Given the description of an element on the screen output the (x, y) to click on. 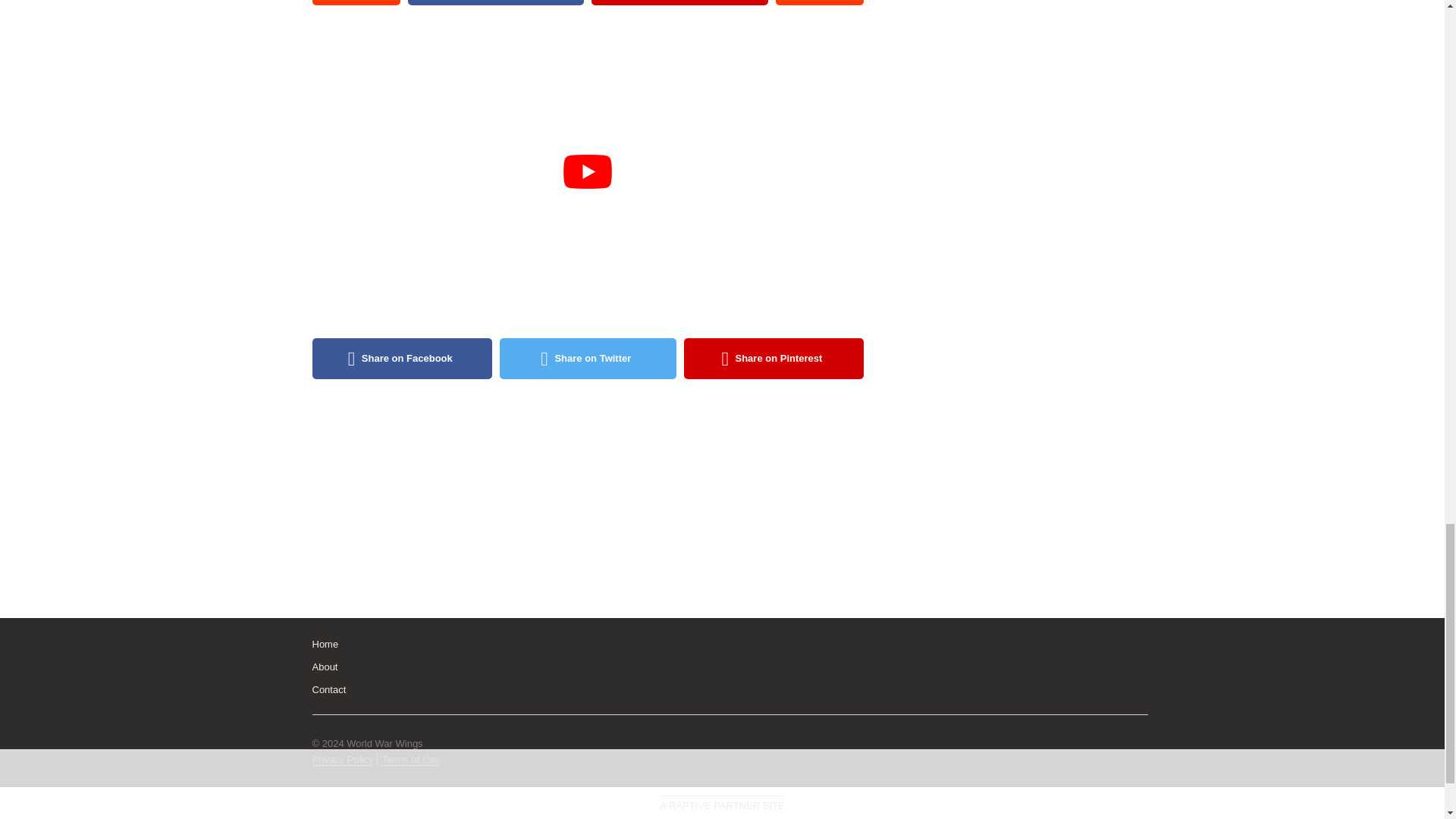
Share on Pinterest (774, 358)
Share on Pinterest (679, 2)
